Given the description of an element on the screen output the (x, y) to click on. 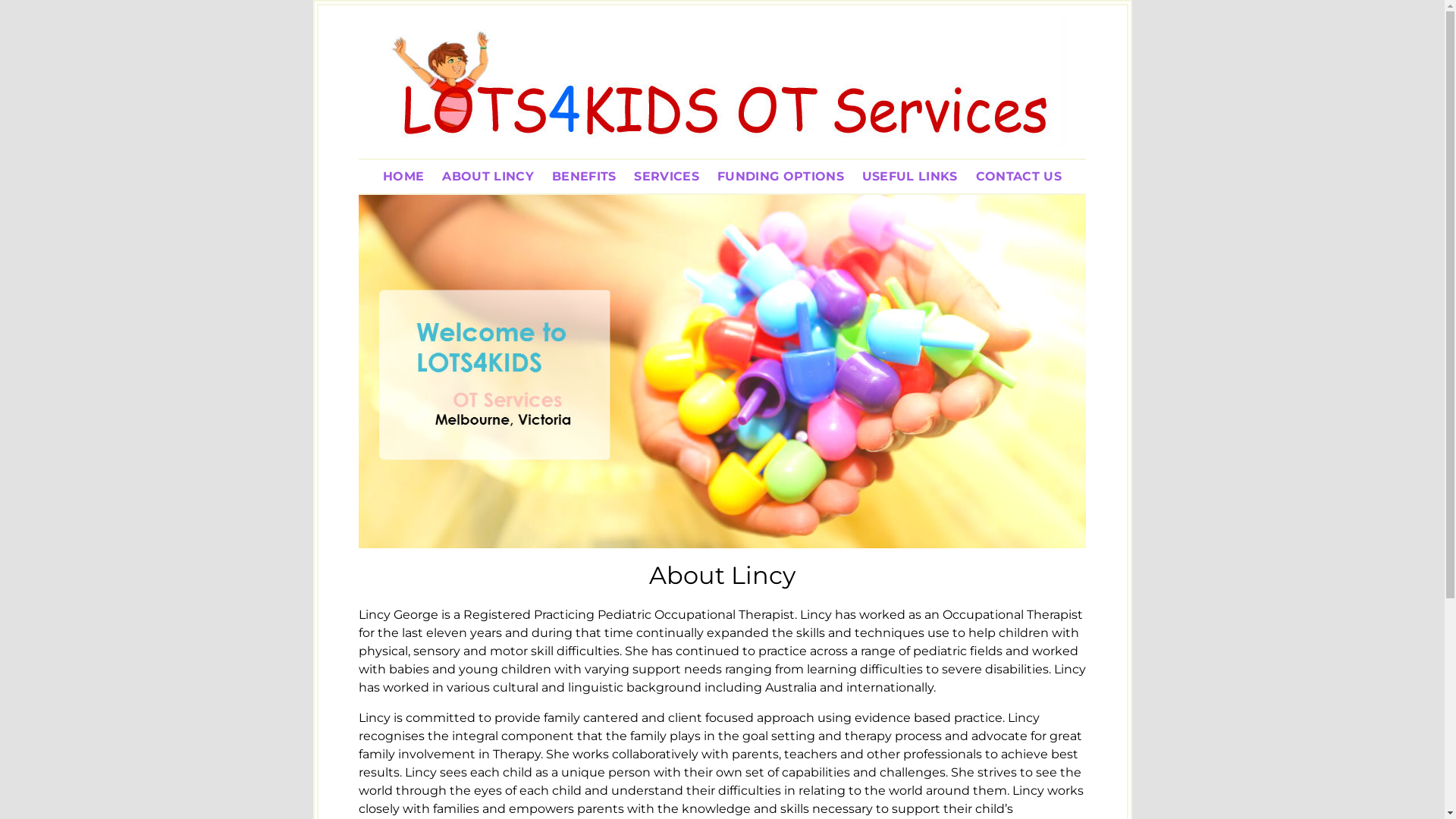
HOME Element type: text (402, 176)
SERVICES Element type: text (666, 176)
CONTACT US Element type: text (1018, 176)
FUNDING OPTIONS Element type: text (780, 176)
USEFUL LINKS Element type: text (909, 176)
ABOUT LINCY Element type: text (487, 176)
BENEFITS Element type: text (584, 176)
